Given the description of an element on the screen output the (x, y) to click on. 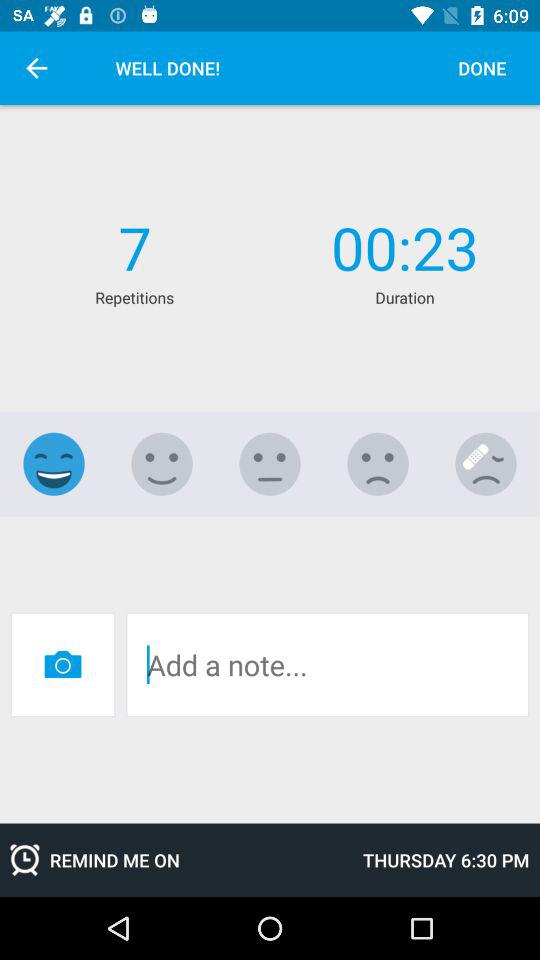
choose the thursday 6 30 at the bottom right corner (446, 859)
